Given the description of an element on the screen output the (x, y) to click on. 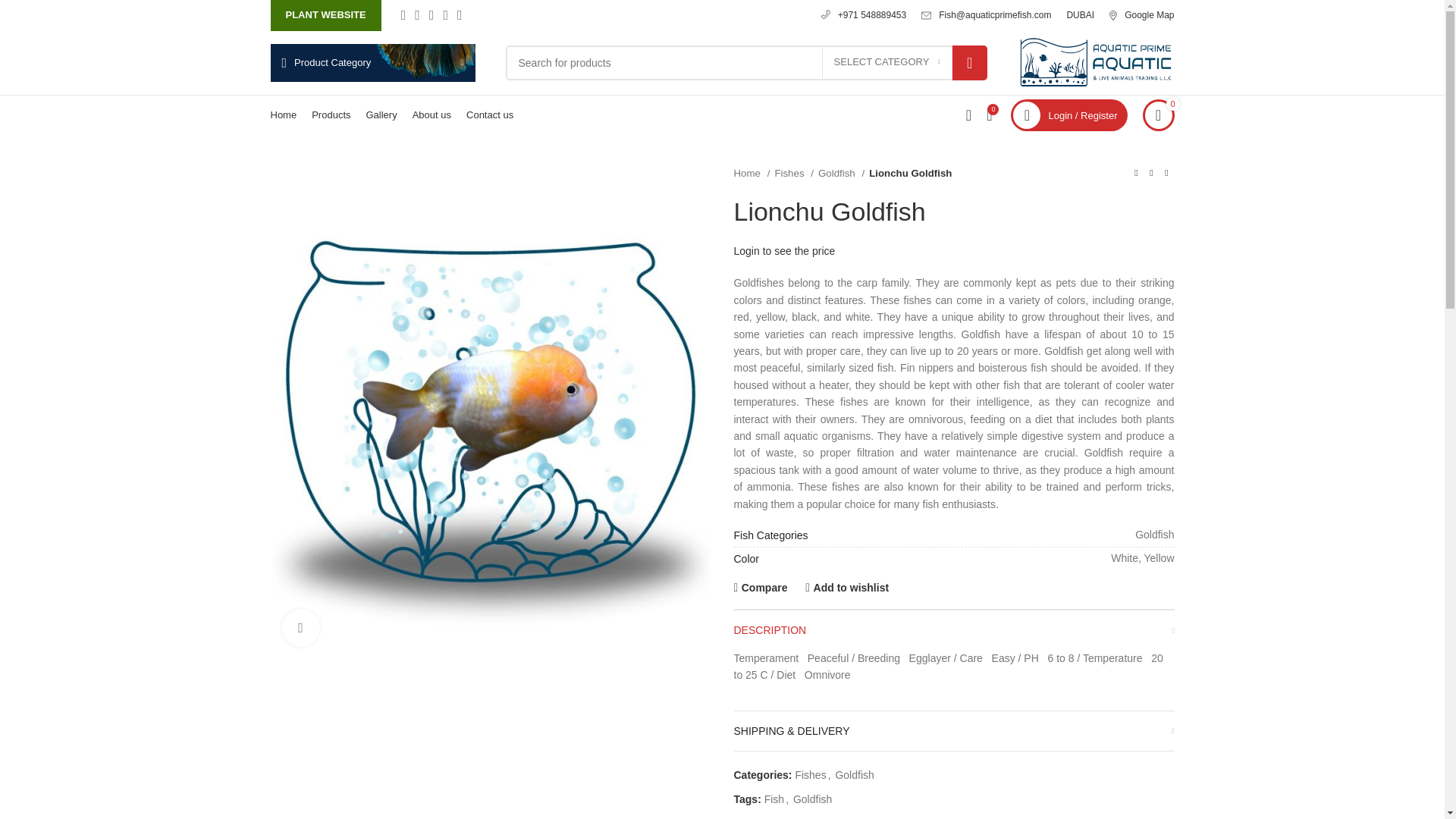
Google Map (1148, 14)
SELECT CATEGORY (887, 62)
SELECT CATEGORY (887, 62)
PLANT WEBSITE (324, 15)
Search for products (746, 62)
DUBAI (1079, 14)
My account (1068, 114)
Shopping cart (1157, 114)
